Given the description of an element on the screen output the (x, y) to click on. 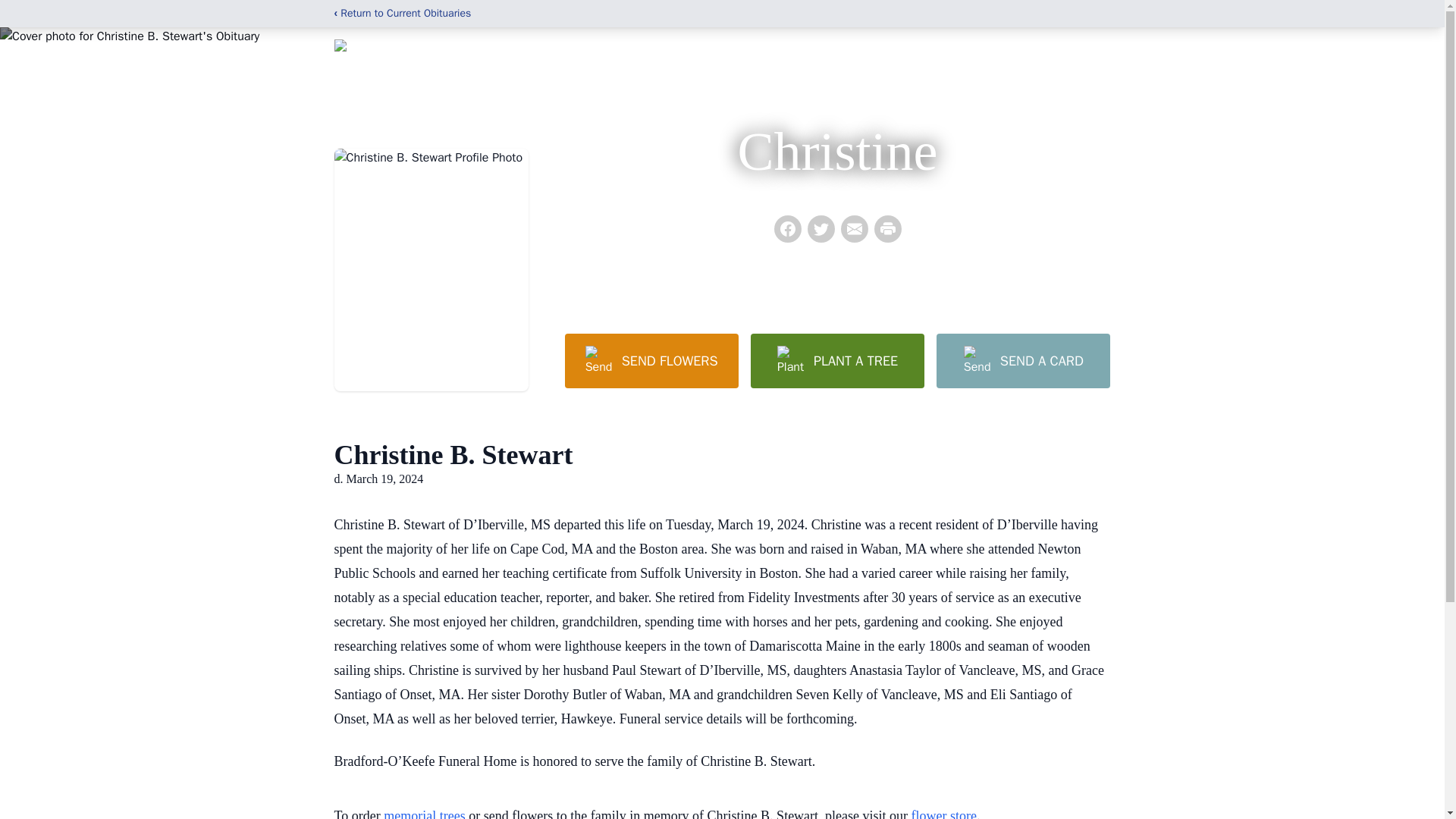
PLANT A TREE (837, 360)
SEND A CARD (1022, 360)
memorial trees (424, 813)
SEND FLOWERS (651, 360)
flower store (943, 813)
